Given the description of an element on the screen output the (x, y) to click on. 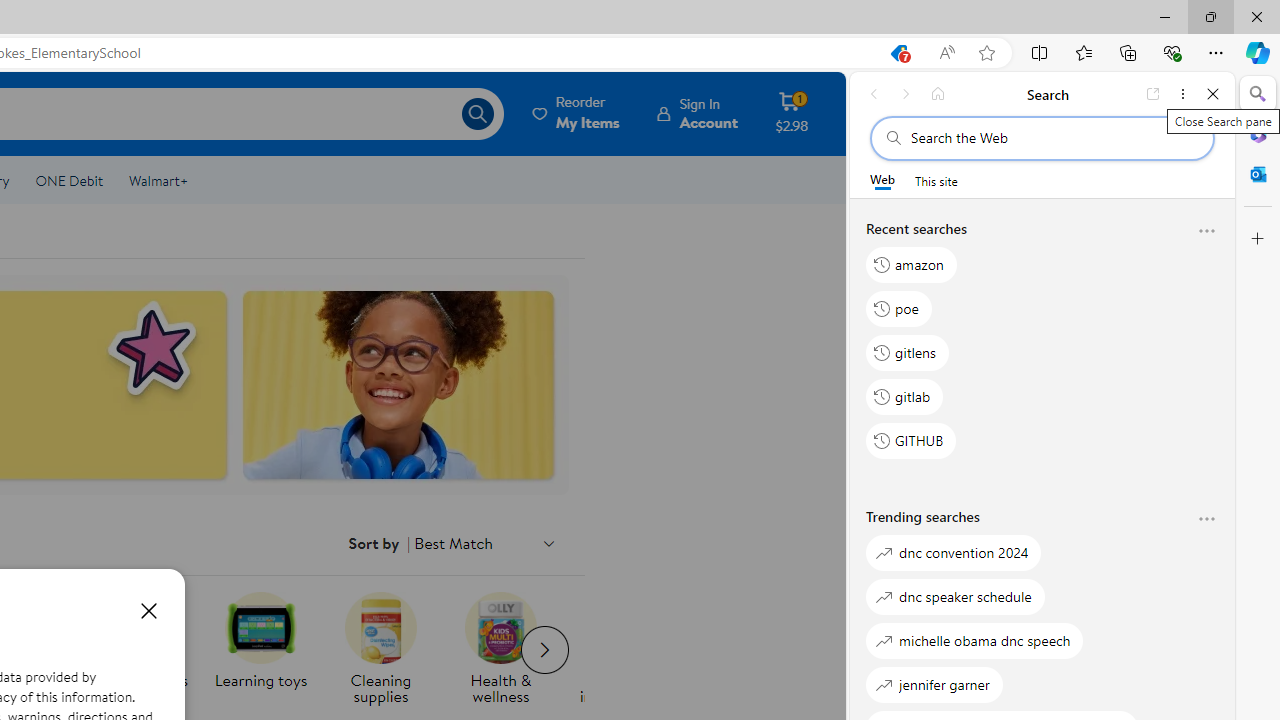
gitlab (905, 396)
michelle obama dnc speech (975, 640)
Forward (906, 93)
Search the web (1051, 137)
Web scope (882, 180)
Outlook (1258, 174)
Open link in new tab (1153, 93)
Close Search pane (1258, 94)
